Given the description of an element on the screen output the (x, y) to click on. 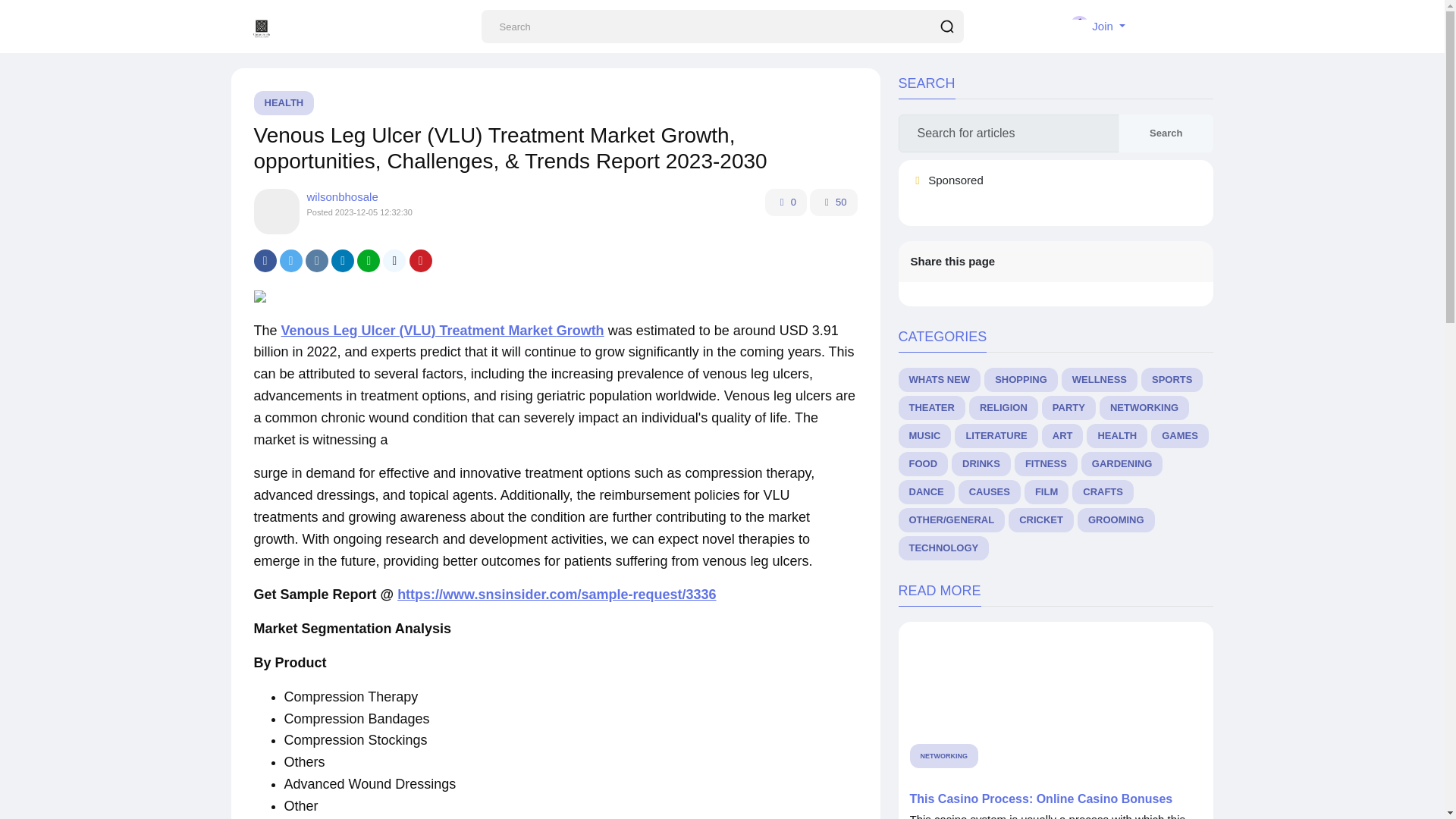
NETWORKING (1144, 407)
Join (1096, 26)
RELIGION (1003, 407)
WELLNESS (1099, 379)
MUSIC (924, 435)
CampusAcada (262, 28)
Search (1165, 133)
WHATS NEW (938, 379)
HEALTH (283, 102)
PARTY (1069, 407)
SPORTS (1171, 379)
wilsonbhosale (341, 196)
SHOPPING (1021, 379)
0 (785, 202)
THEATER (930, 407)
